Given the description of an element on the screen output the (x, y) to click on. 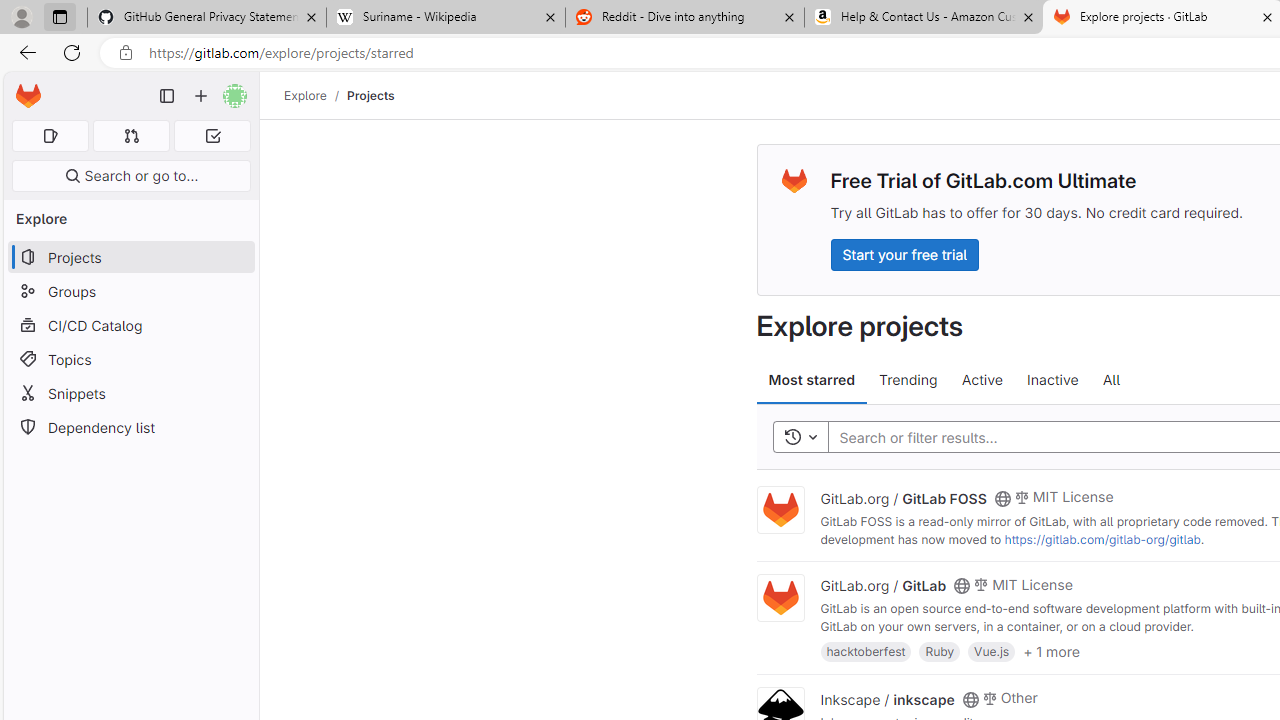
Vue.js (991, 650)
Primary navigation sidebar (167, 96)
Snippets (130, 393)
Explore/ (316, 95)
GitLab.org / GitLab (883, 585)
Groups (130, 291)
Active (982, 379)
Ruby (940, 650)
Create new... (201, 96)
Groups (130, 291)
hacktoberfest (866, 650)
+ 1 more (1051, 650)
Assigned issues 0 (50, 136)
